Given the description of an element on the screen output the (x, y) to click on. 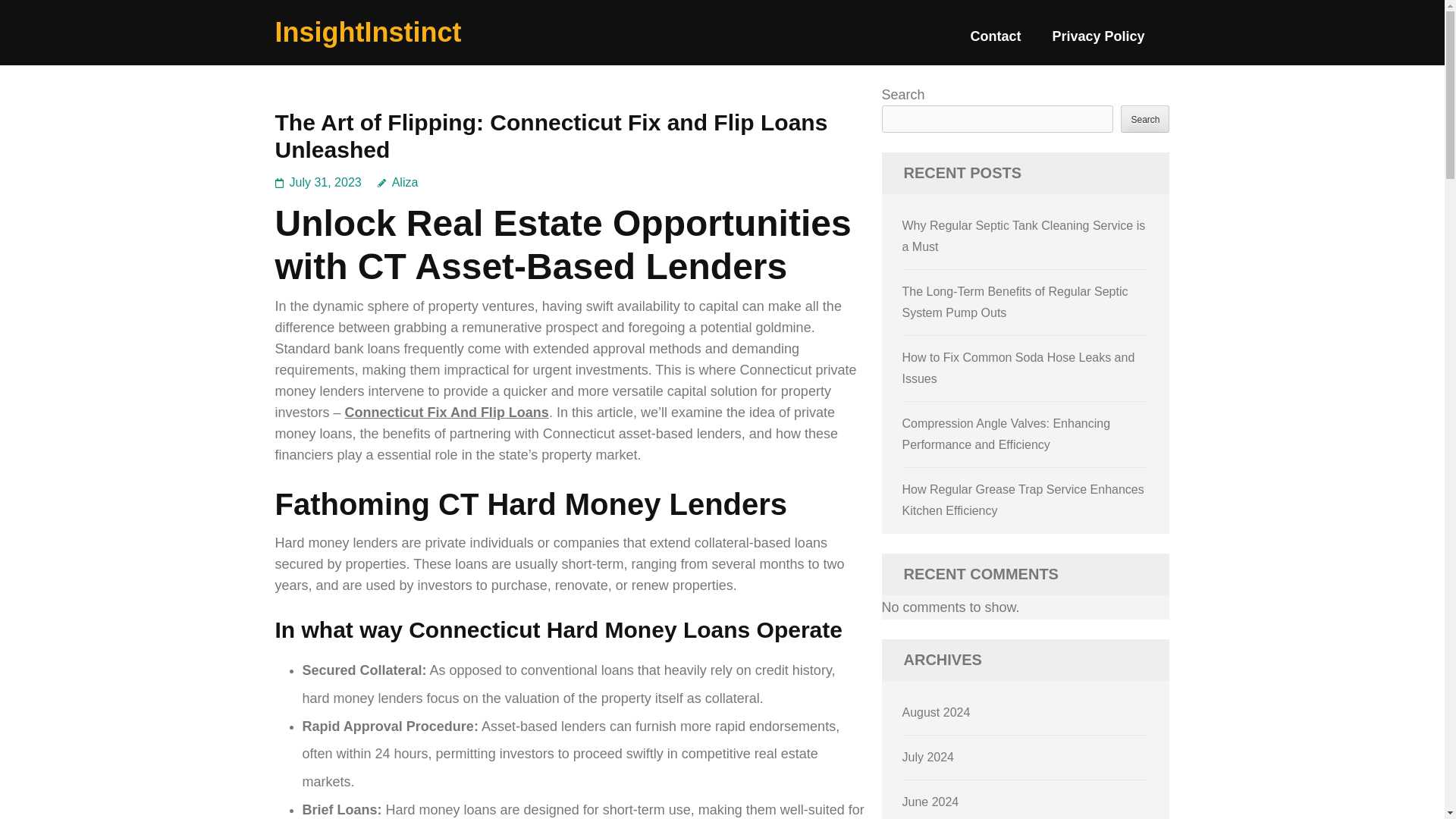
Connecticut Fix And Flip Loans (446, 412)
June 2024 (930, 801)
The Long-Term Benefits of Regular Septic System Pump Outs (1015, 302)
InsightInstinct (368, 31)
July 2024 (928, 757)
How Regular Grease Trap Service Enhances Kitchen Efficiency (1023, 499)
Aliza (398, 182)
Privacy Policy (1097, 42)
July 31, 2023 (325, 182)
Why Regular Septic Tank Cleaning Service is a Must (1023, 236)
Contact (994, 42)
August 2024 (936, 712)
How to Fix Common Soda Hose Leaks and Issues (1018, 367)
Search (1145, 118)
